Given the description of an element on the screen output the (x, y) to click on. 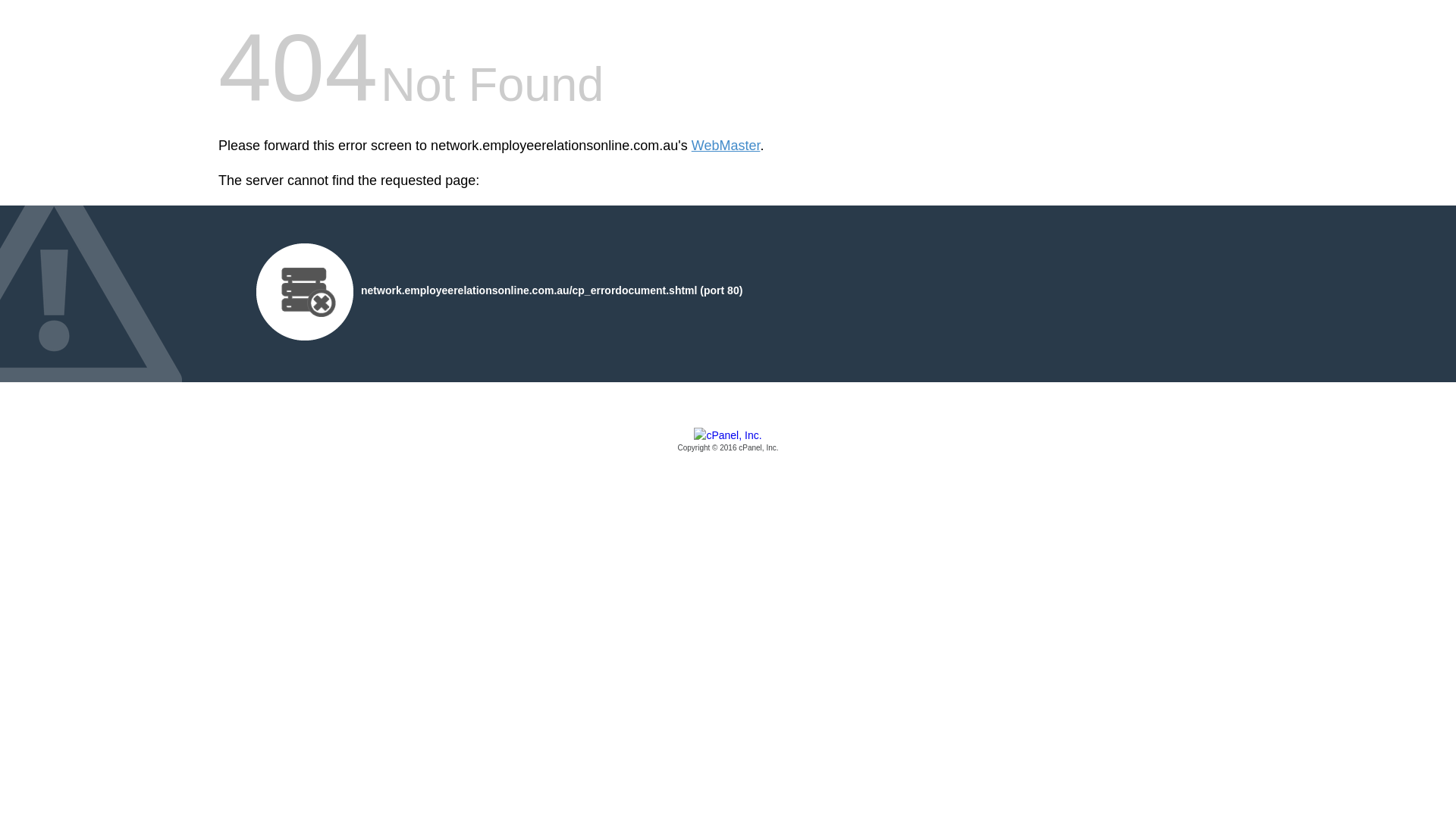
WebMaster Element type: text (725, 145)
